Given the description of an element on the screen output the (x, y) to click on. 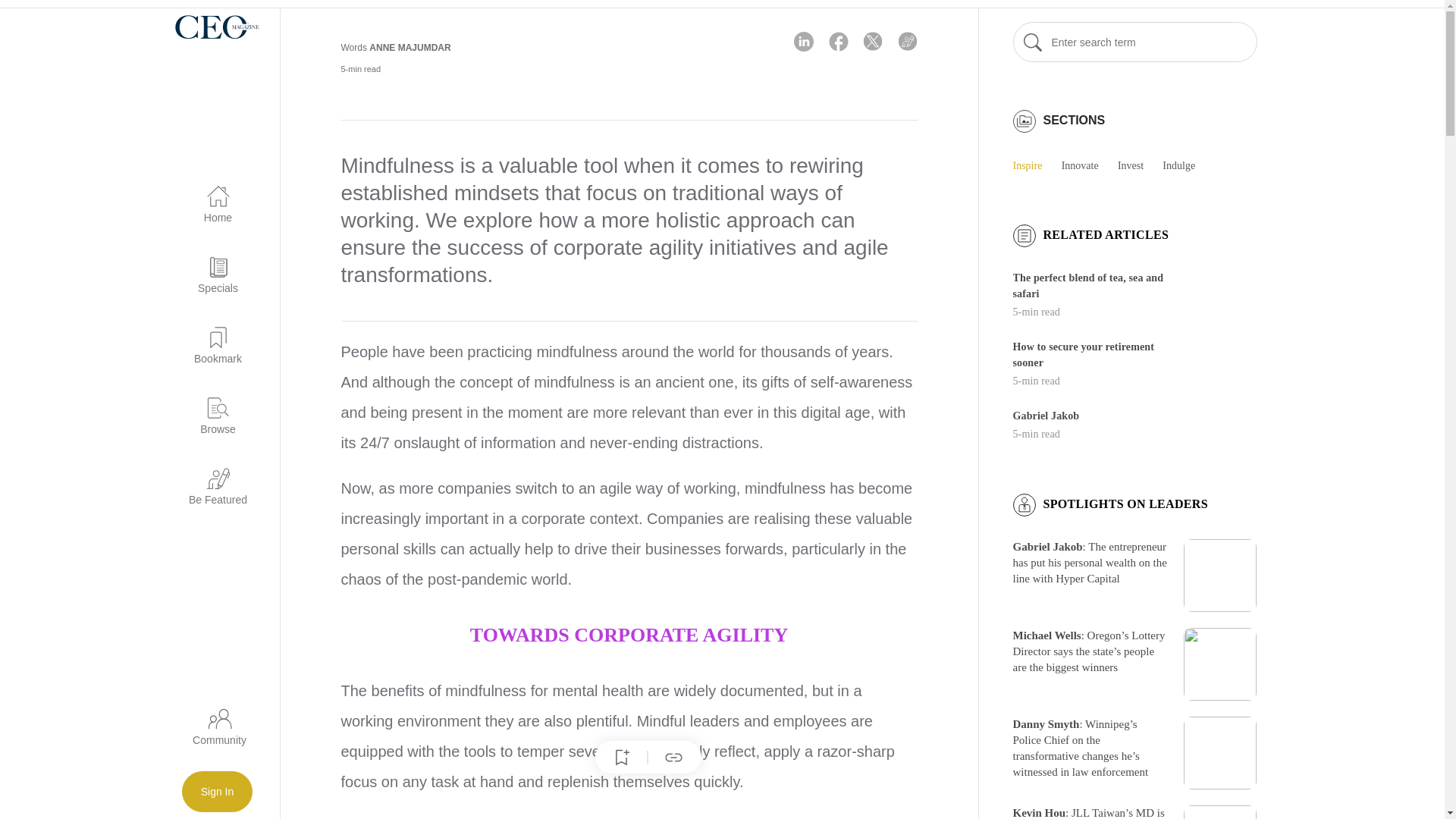
Inspire (1035, 165)
Bookmark (209, 336)
Browse (209, 406)
Innovate (1088, 165)
The perfect blend of tea, sea and safari (1088, 285)
Indulge (1186, 165)
Home (209, 195)
Specials (209, 266)
Sign In (217, 791)
